Given the description of an element on the screen output the (x, y) to click on. 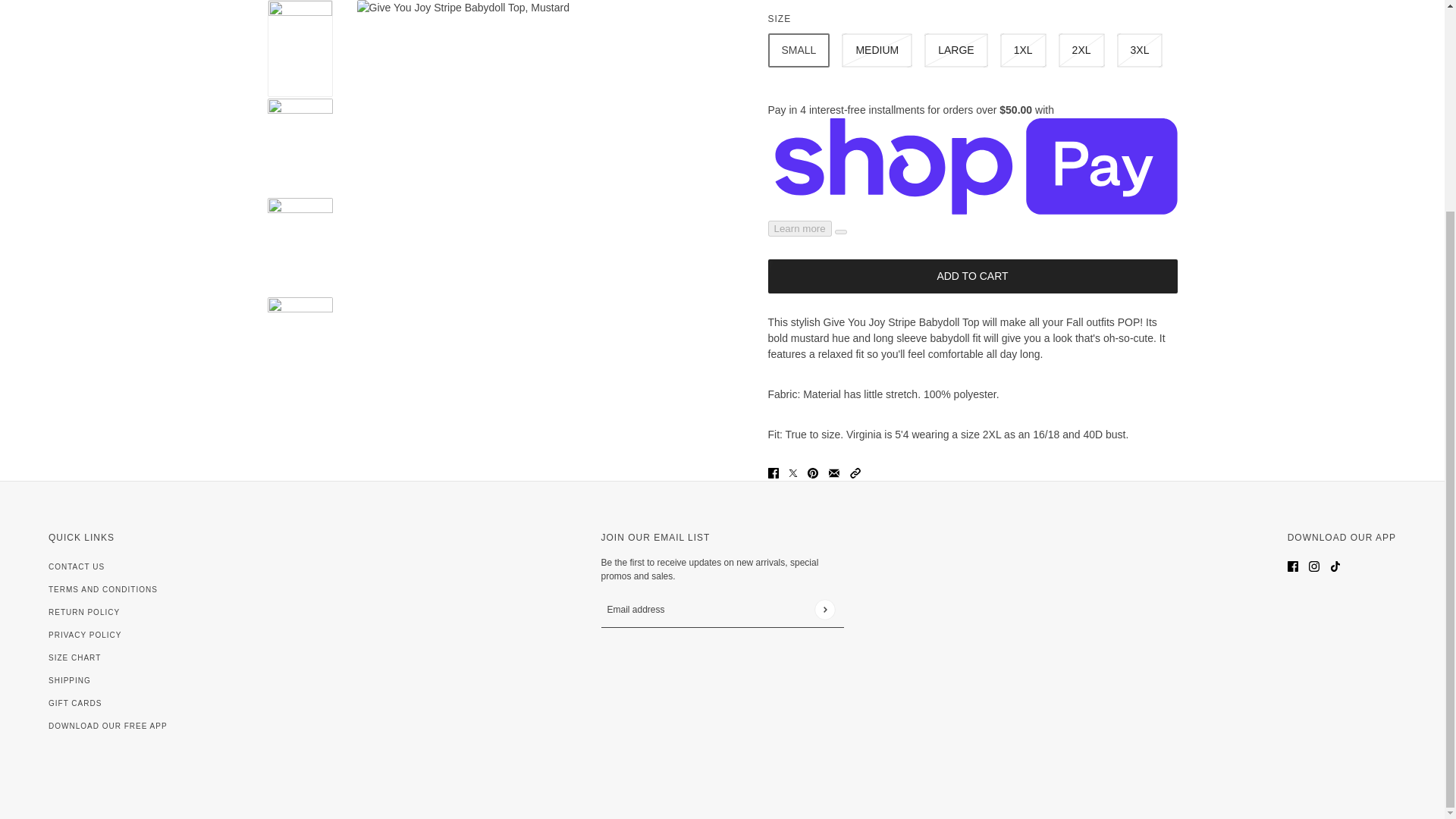
Contact Us (76, 566)
Privacy Policy (84, 634)
Terms and Conditions (102, 589)
Gift Cards (74, 703)
Download Our Free App (107, 725)
Shipping (69, 680)
Return Policy (83, 612)
Size Chart (74, 657)
